Given the description of an element on the screen output the (x, y) to click on. 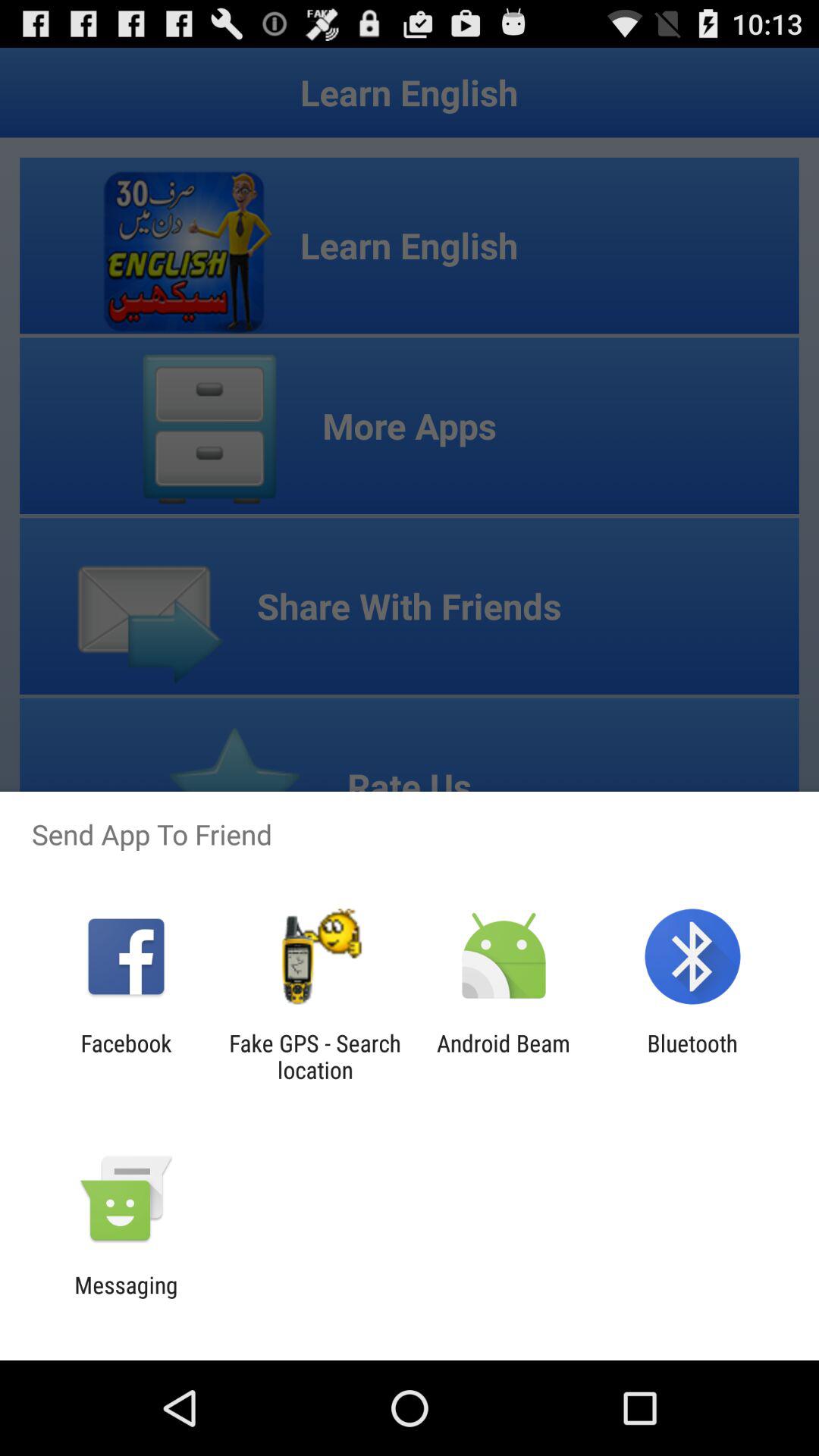
swipe until the facebook icon (125, 1056)
